Given the description of an element on the screen output the (x, y) to click on. 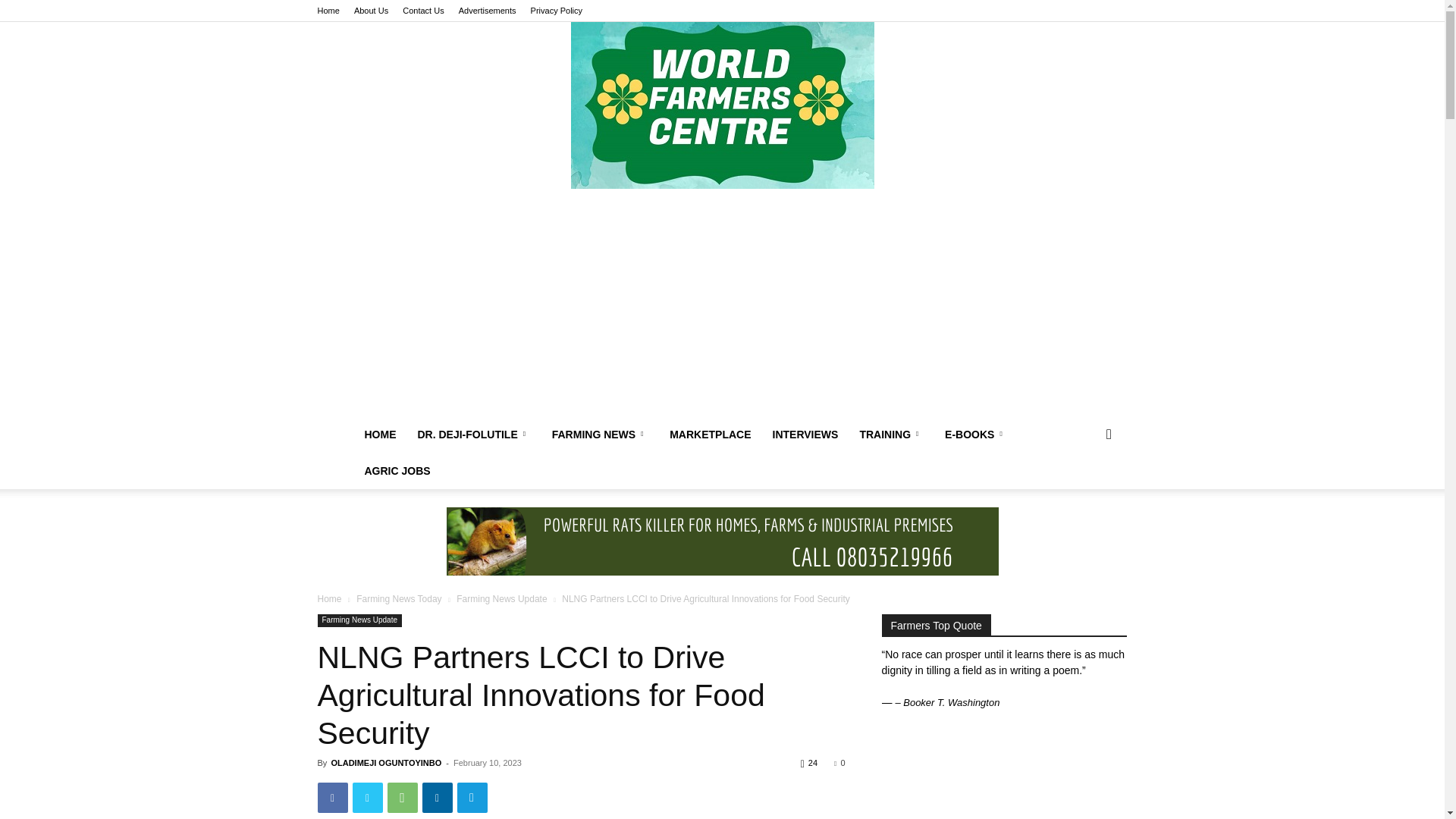
WhatsApp (401, 797)
View all posts in Farming News Update (502, 598)
Privacy Policy (556, 10)
Home (328, 10)
Advertisements (487, 10)
Twitter (366, 797)
Contact Us (423, 10)
View all posts in Farming News Today (399, 598)
Facebook (332, 797)
About Us (370, 10)
